Given the description of an element on the screen output the (x, y) to click on. 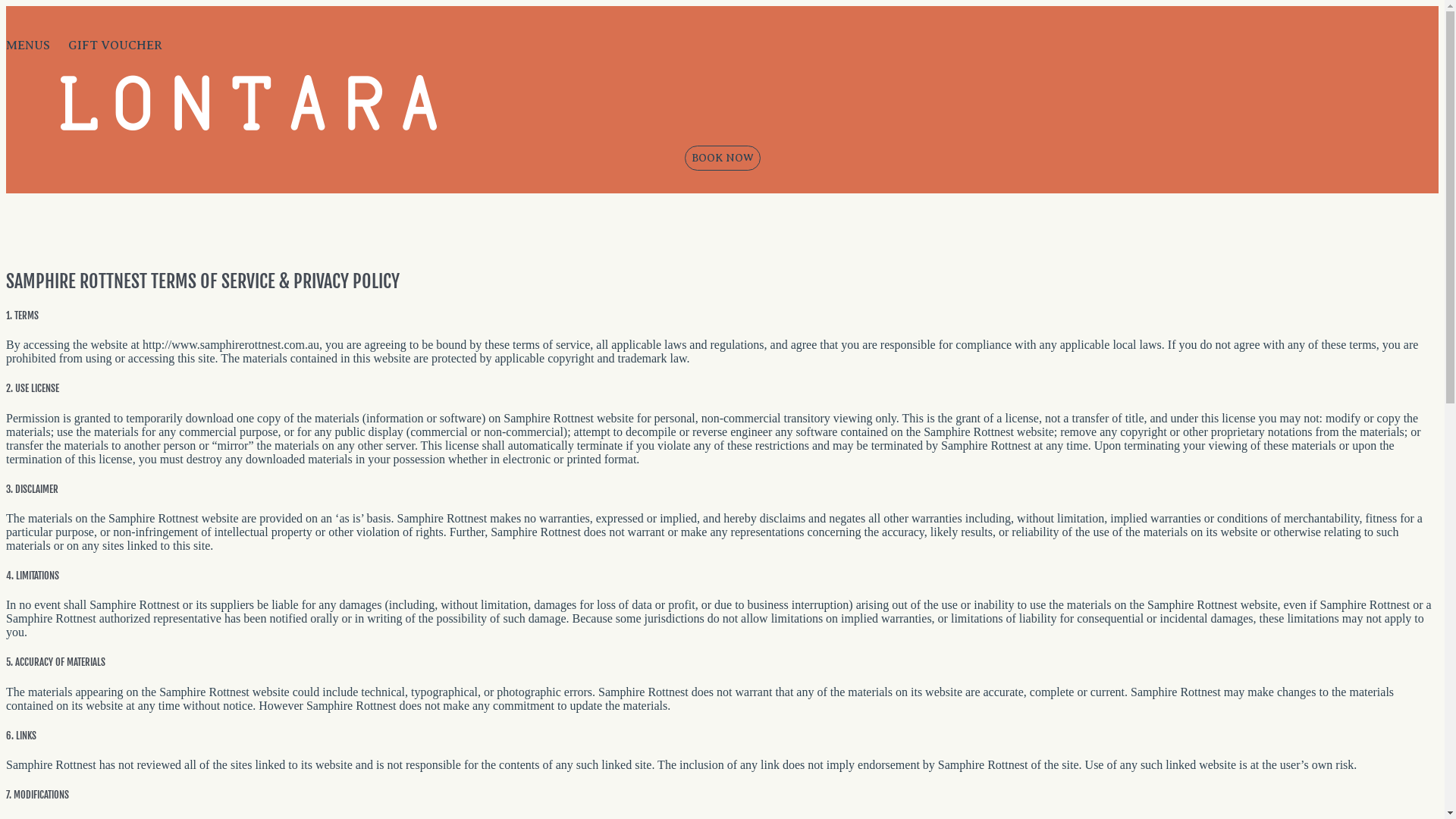
MENUS Element type: text (28, 45)
lontara-header-logo Element type: hover (248, 103)
GIFT VOUCHER Element type: text (115, 45)
BOOK NOW Element type: text (721, 157)
